Given the description of an element on the screen output the (x, y) to click on. 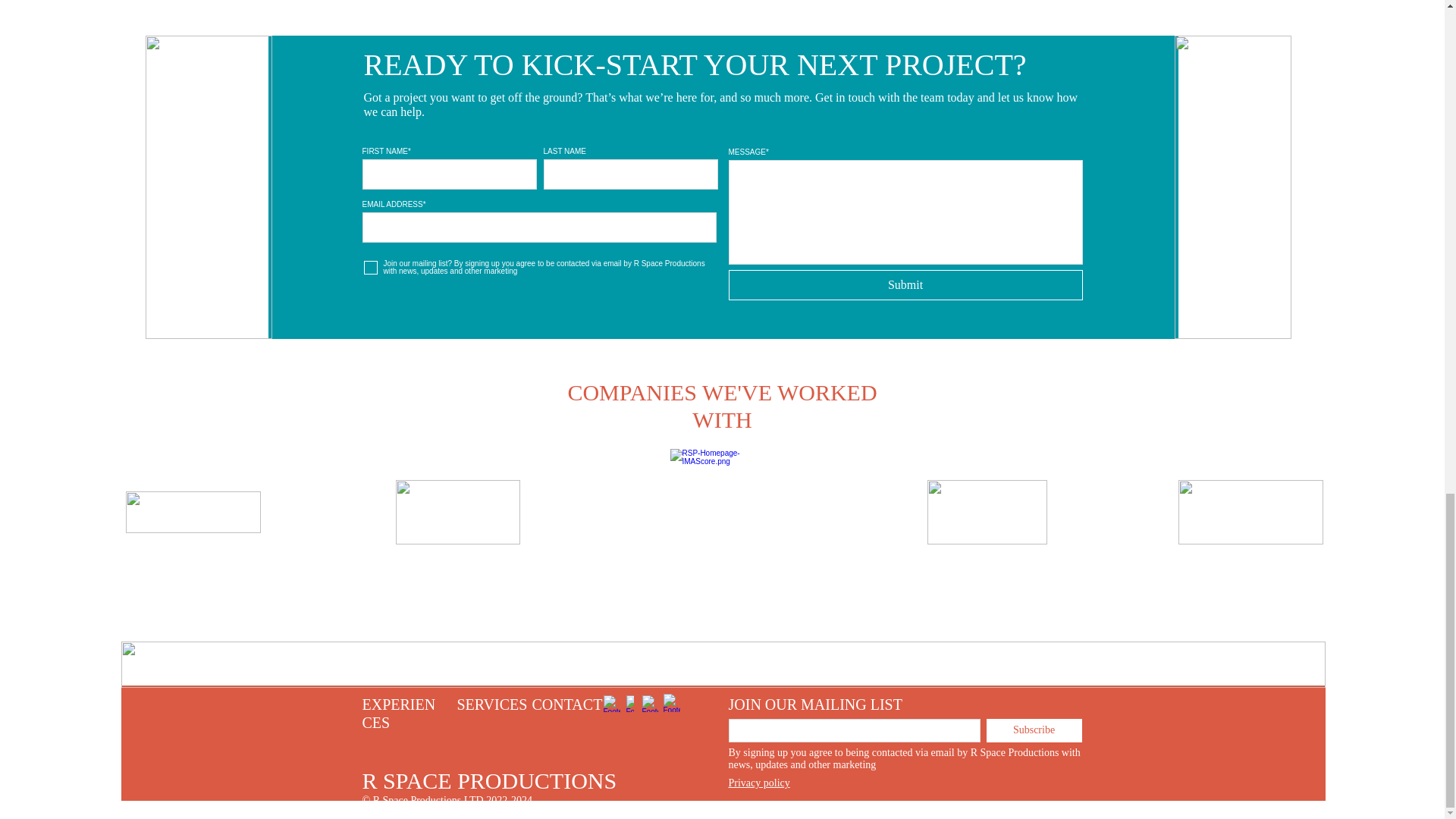
Privacy policy (758, 782)
Submit (904, 285)
CONTACT (567, 703)
SERVICES (492, 703)
EXPERIENCES (398, 712)
Subscribe (1033, 730)
